Given the description of an element on the screen output the (x, y) to click on. 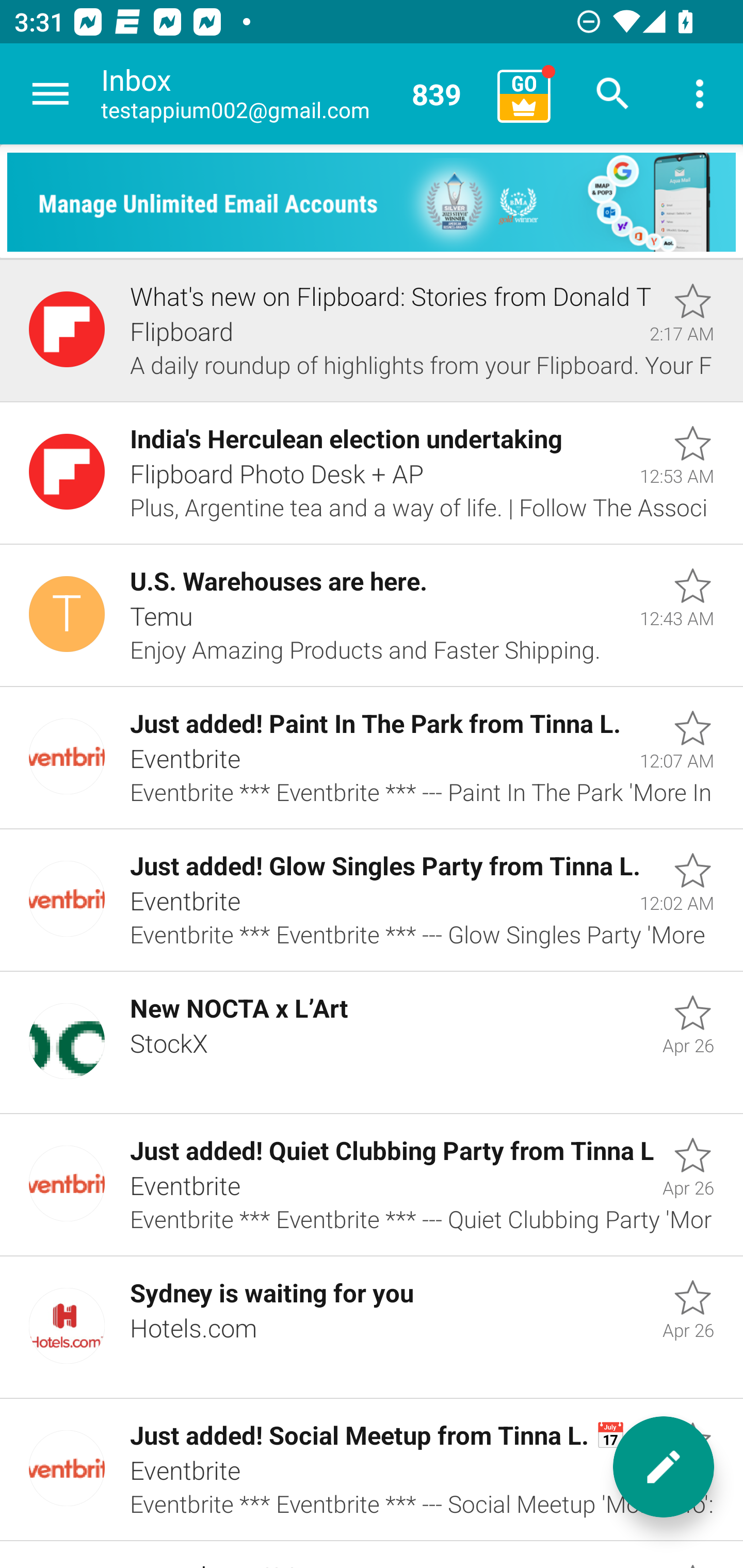
Navigate up (50, 93)
Inbox testappium002@gmail.com 839 (291, 93)
Search (612, 93)
More options (699, 93)
Unread, New NOCTA x L’Art, StockX, Apr 26 (371, 1043)
New message (663, 1466)
